Given the description of an element on the screen output the (x, y) to click on. 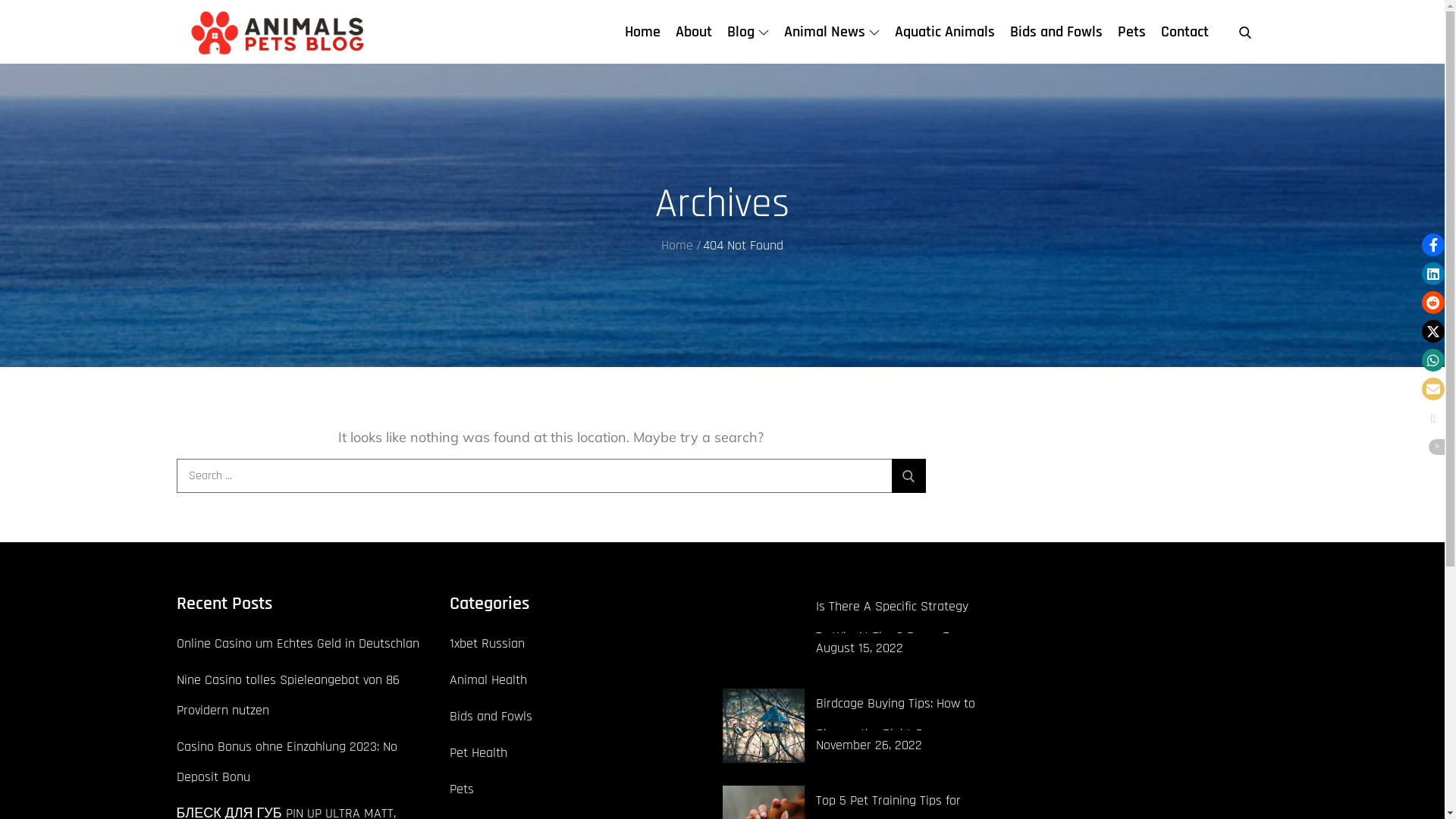
About Element type: text (692, 31)
Bids and Fowls Element type: text (489, 716)
Bids and Fowls Element type: text (1056, 31)
Home Element type: text (642, 31)
Online Casino um Echtes Geld in Deutschlan Element type: text (296, 643)
Birdcage Buying Tips: How to Choose the Right One Element type: text (895, 718)
Animal News Element type: text (831, 31)
Pets Element type: text (1131, 31)
1xbet Russian Element type: text (486, 643)
Search Element type: text (908, 475)
Home Element type: text (677, 245)
Pet Health Element type: text (477, 752)
Animal Health Element type: text (487, 680)
Search for: Element type: hover (550, 475)
Contact Element type: text (1184, 31)
Aquatic Animals Element type: text (944, 31)
Casino Bonus ohne Einzahlung 2023: No Deposit Bonu Element type: text (285, 761)
Blog Element type: text (747, 31)
Nine Casino tolles Spieleangebot von 86 Providern nutzen Element type: text (286, 694)
Pets Element type: text (460, 789)
